Given the description of an element on the screen output the (x, y) to click on. 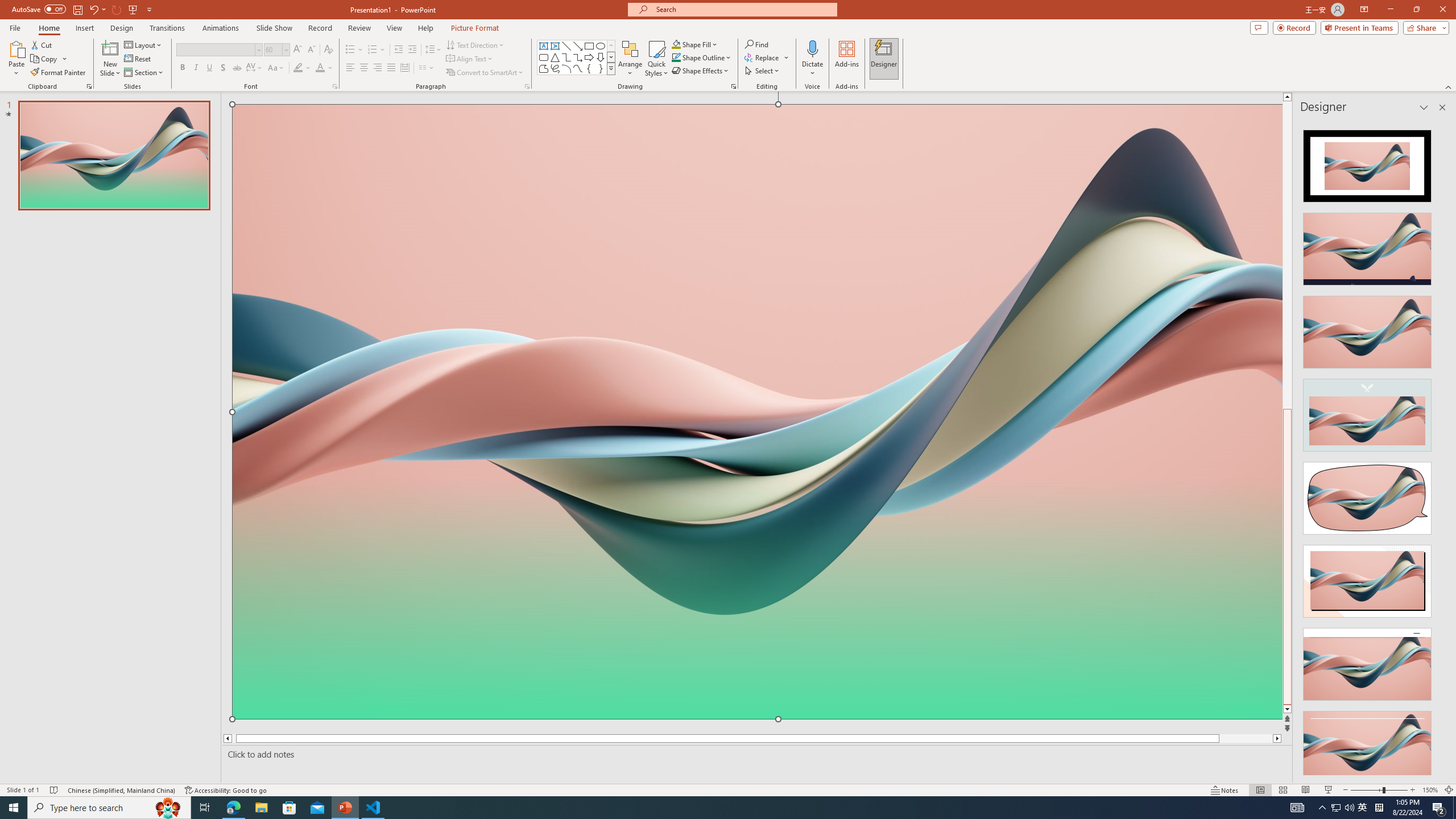
Picture Format (475, 28)
